Given the description of an element on the screen output the (x, y) to click on. 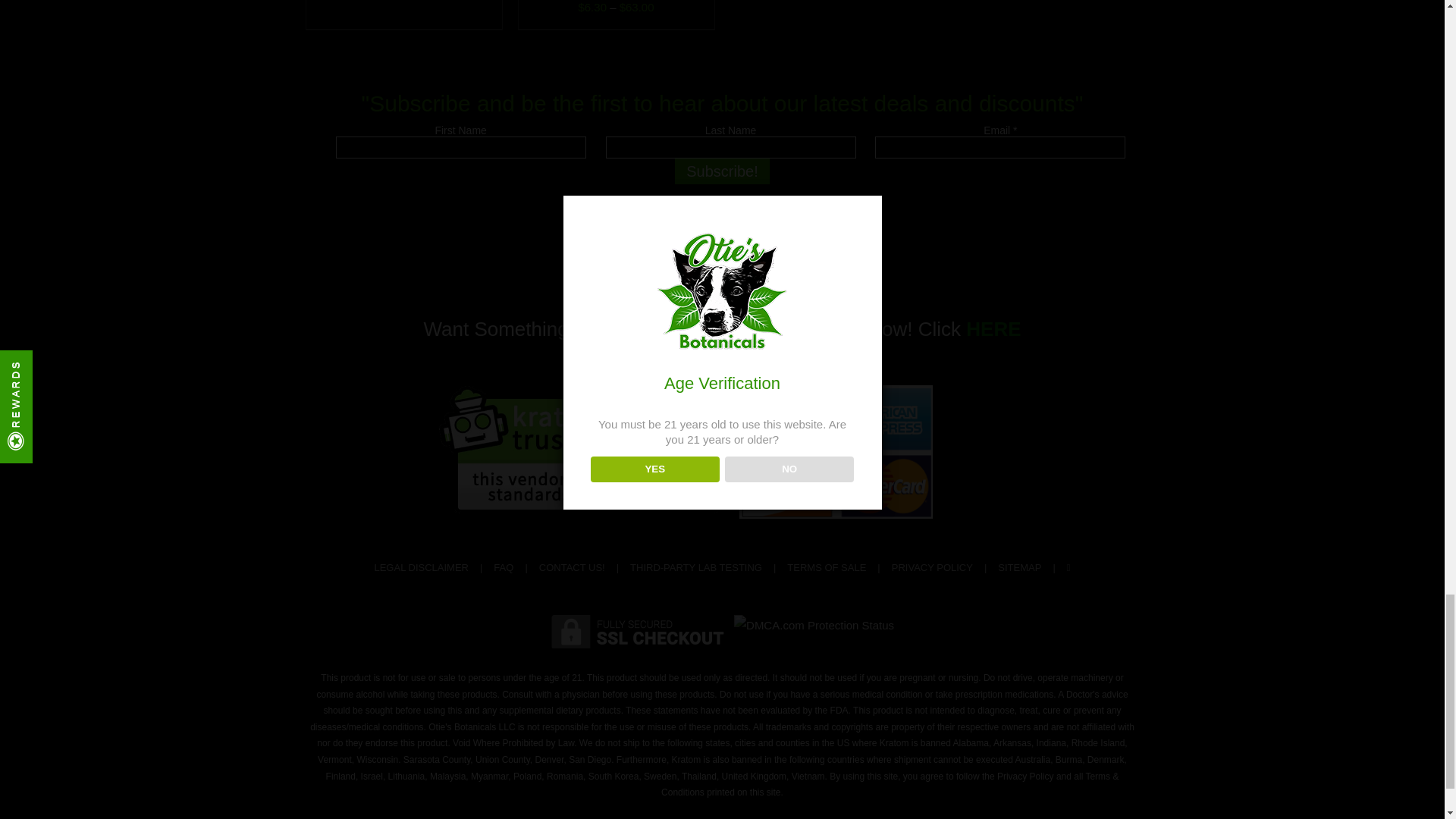
Subscribe! (722, 171)
